Given the description of an element on the screen output the (x, y) to click on. 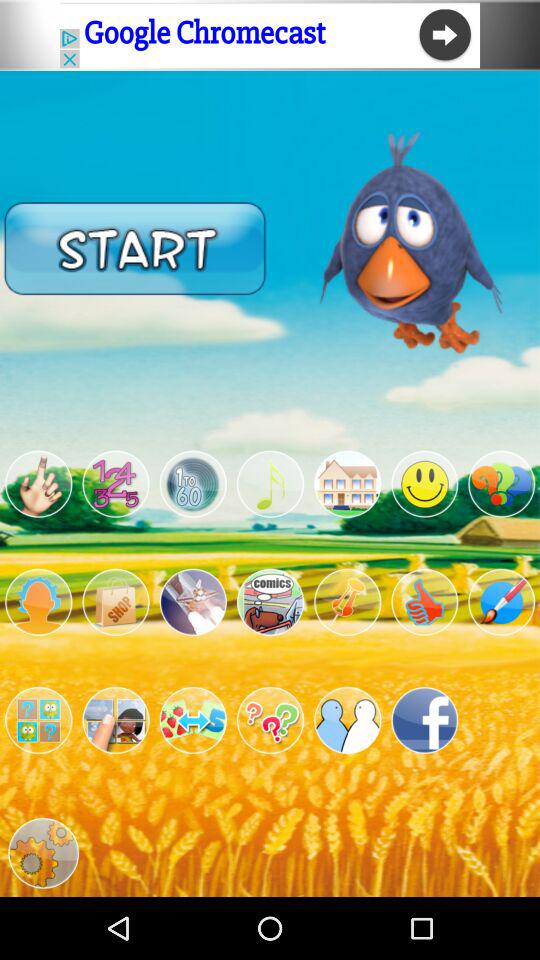
switch to like option (424, 602)
